Given the description of an element on the screen output the (x, y) to click on. 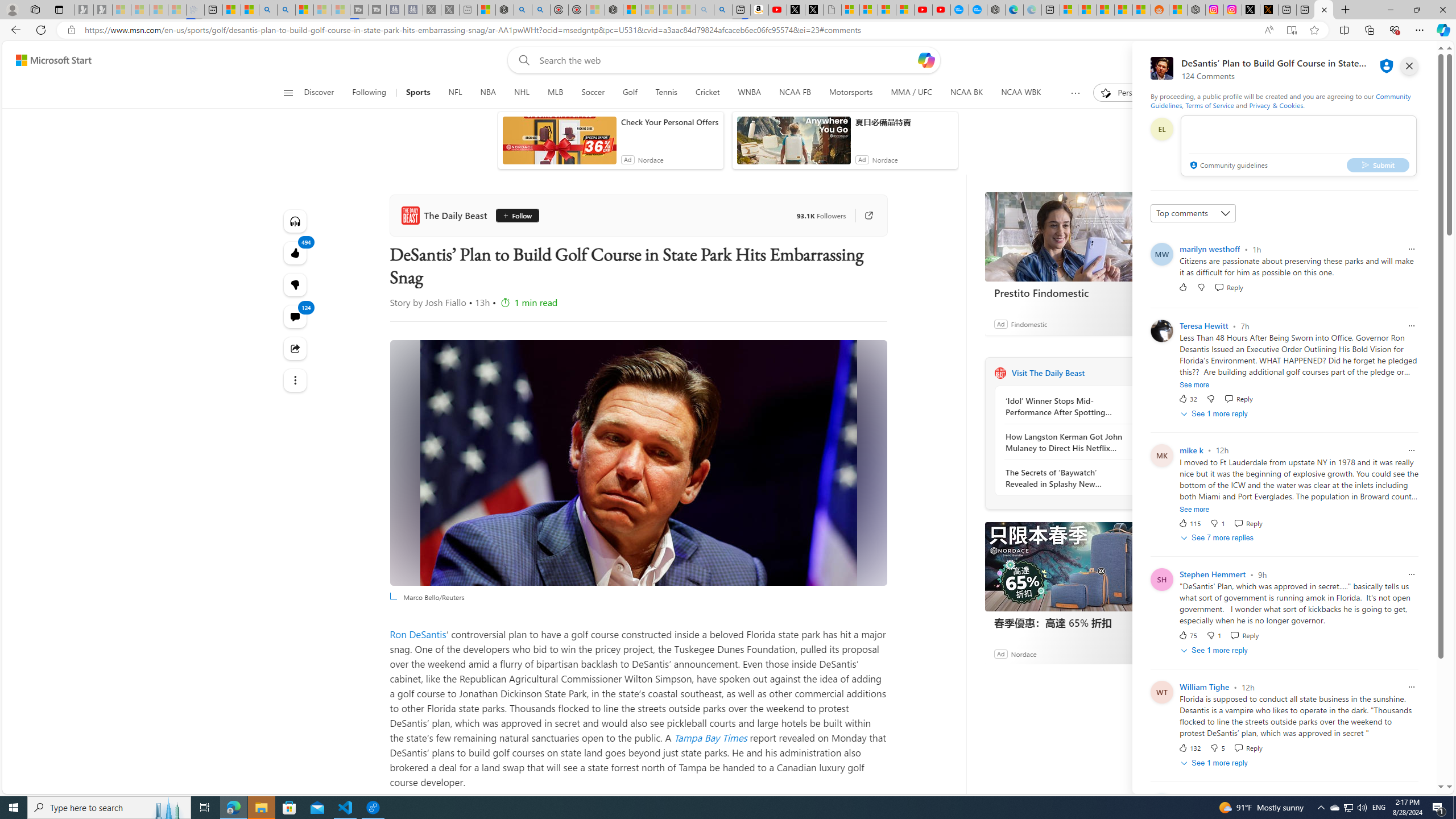
Class: button-glyph (287, 92)
Open Copilot (925, 59)
WNBA (749, 92)
More like this494Fewer like thisView comments (295, 284)
The most popular Google 'how to' searches (977, 9)
Skip to footer (46, 59)
